Given the description of an element on the screen output the (x, y) to click on. 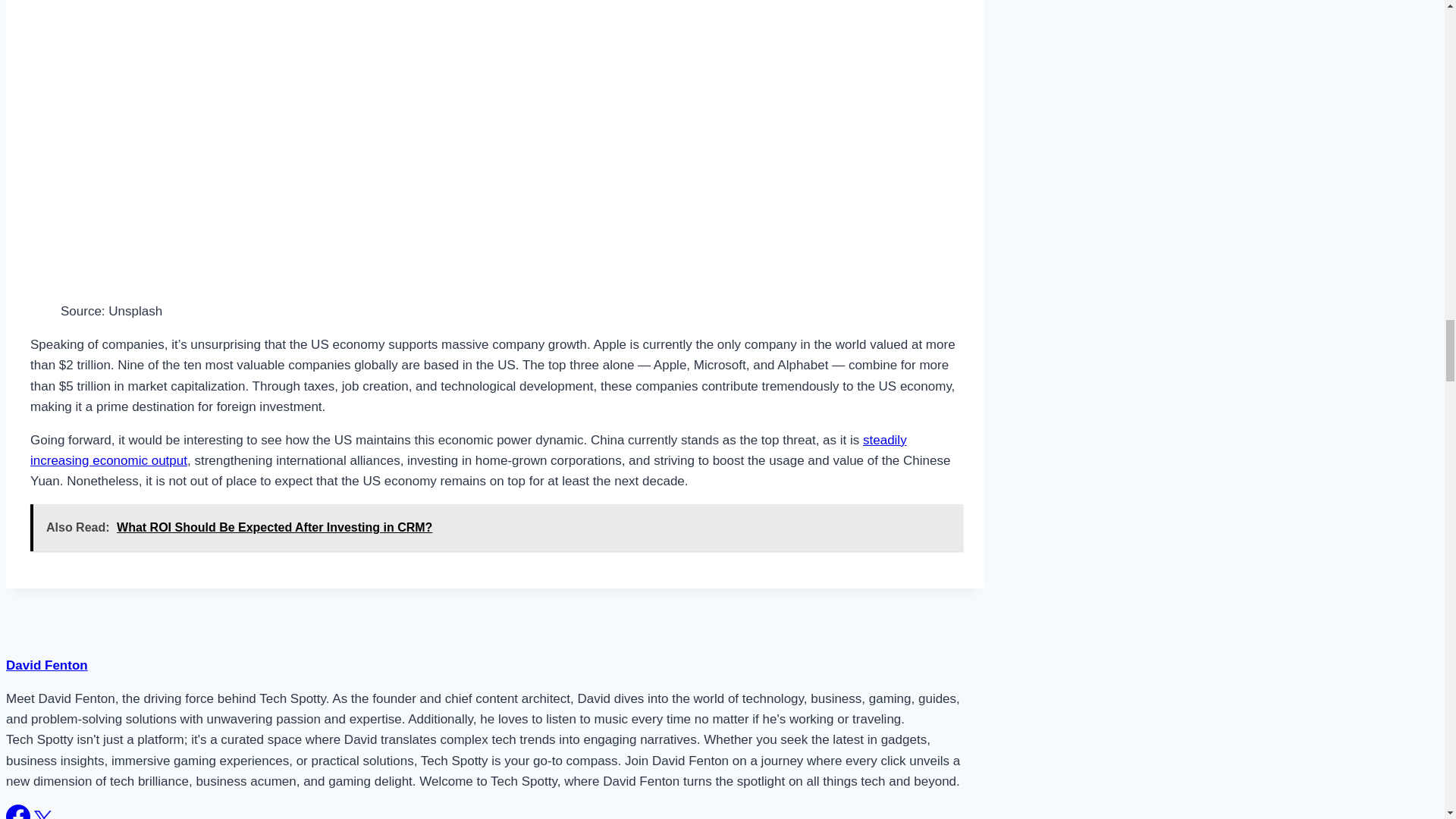
X (41, 814)
Follow David Fenton on Facebook (19, 818)
Posts by David Fenton (46, 665)
Facebook (17, 811)
